Given the description of an element on the screen output the (x, y) to click on. 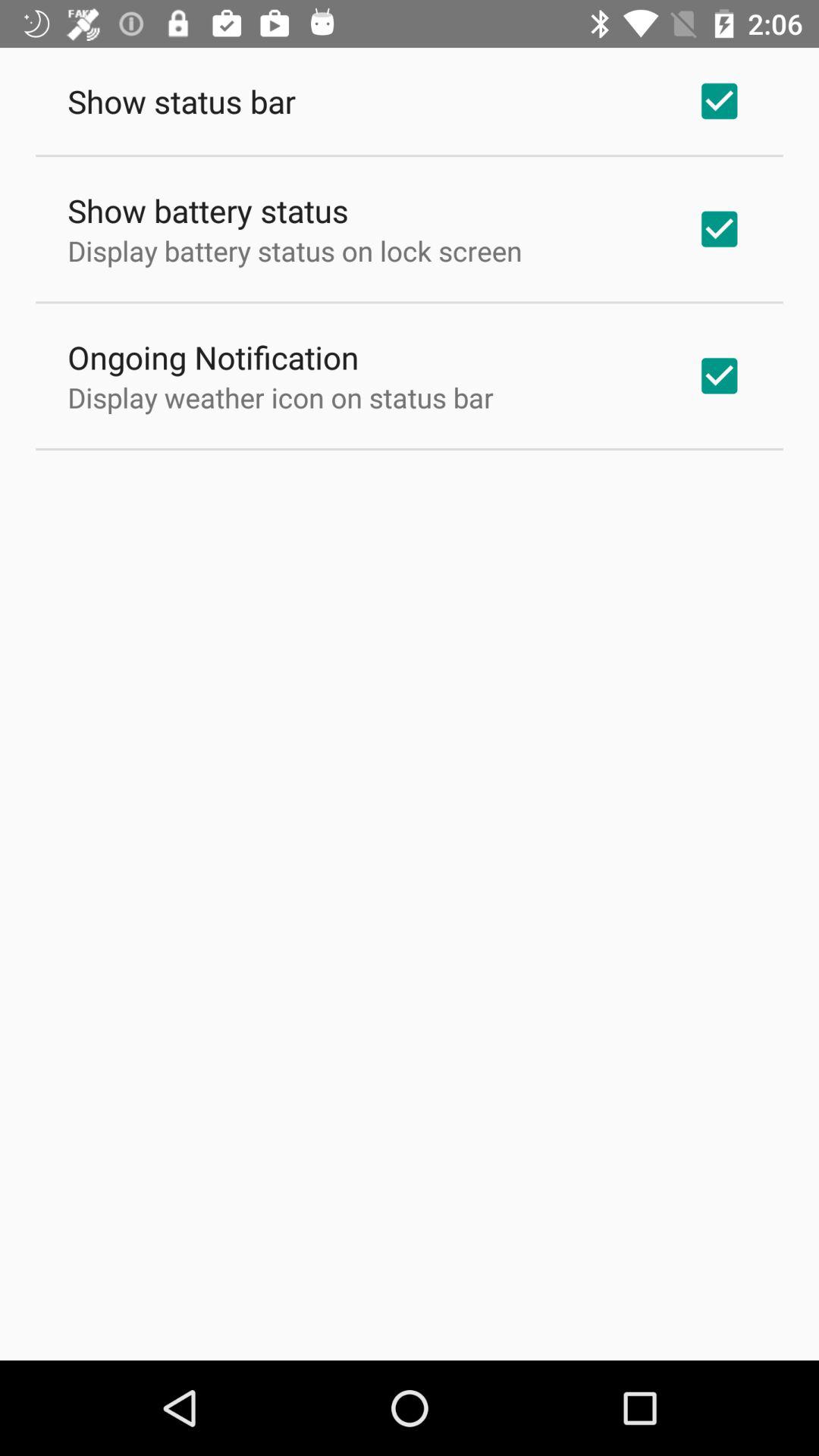
press the icon above display weather icon app (212, 356)
